Given the description of an element on the screen output the (x, y) to click on. 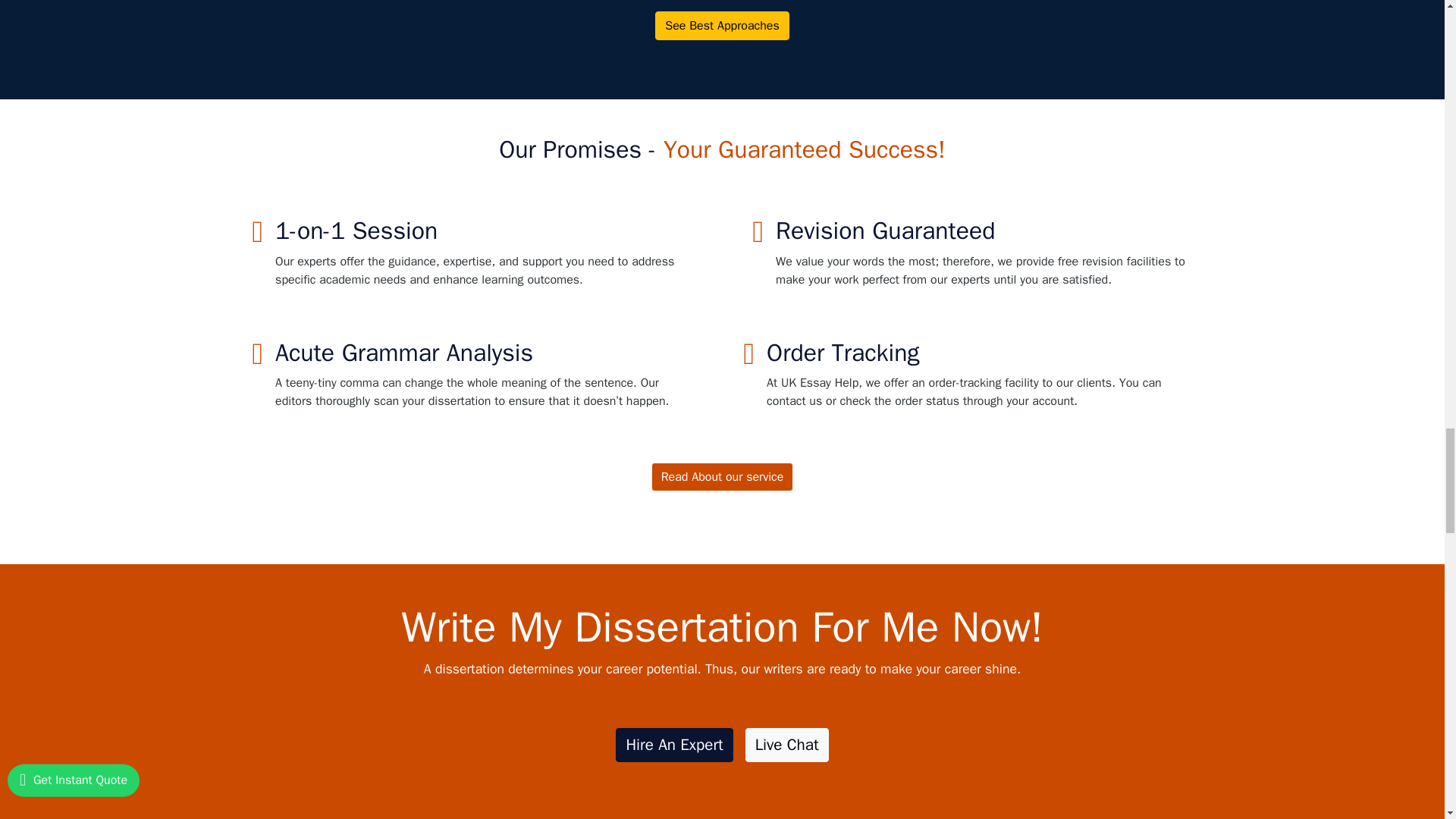
Read About our service (721, 476)
See Best Approaches (722, 24)
Live Chat (786, 745)
Hire An Expert (673, 745)
